Given the description of an element on the screen output the (x, y) to click on. 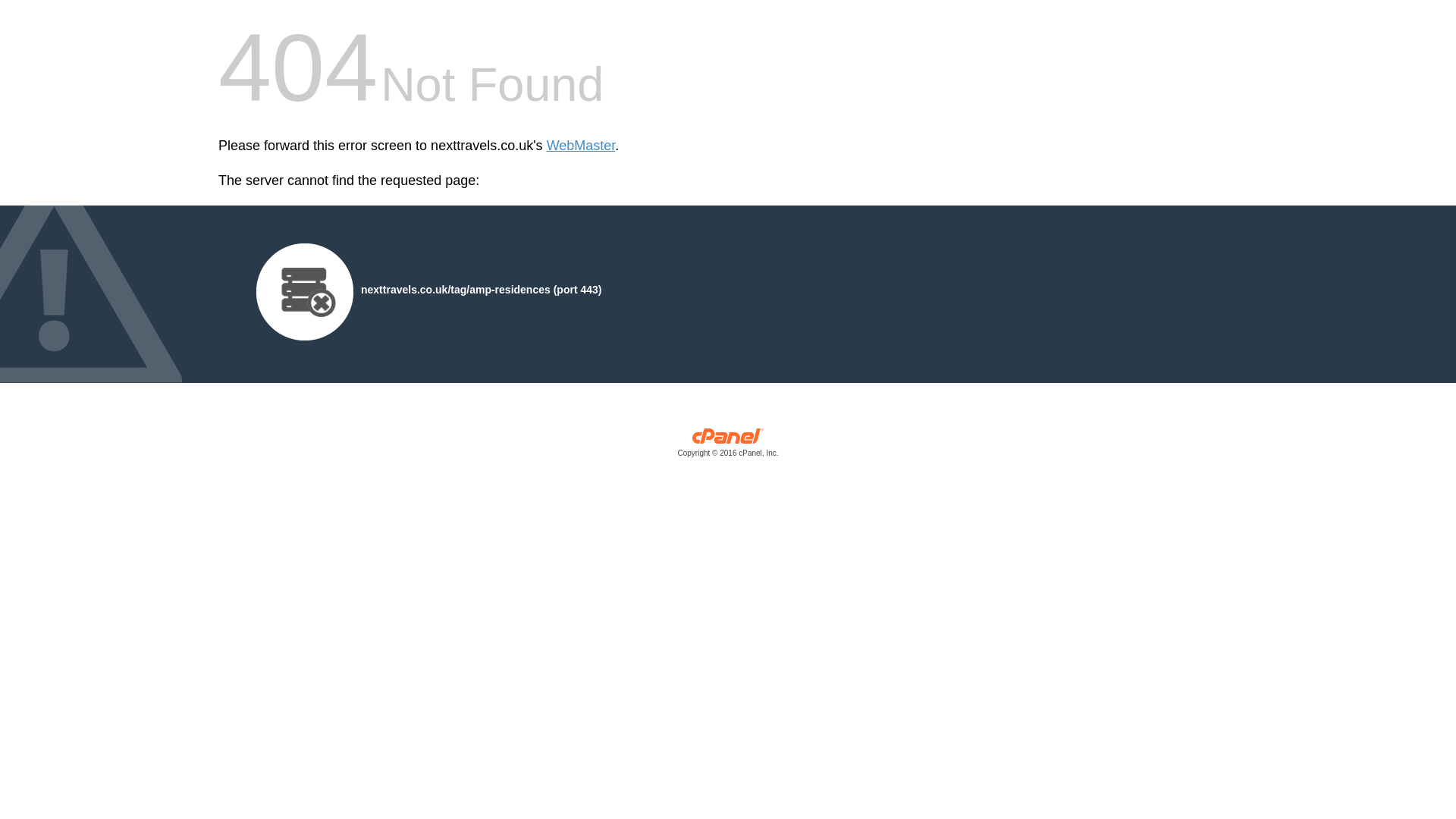
cPanel, Inc. (727, 446)
WebMaster (581, 145)
